Given the description of an element on the screen output the (x, y) to click on. 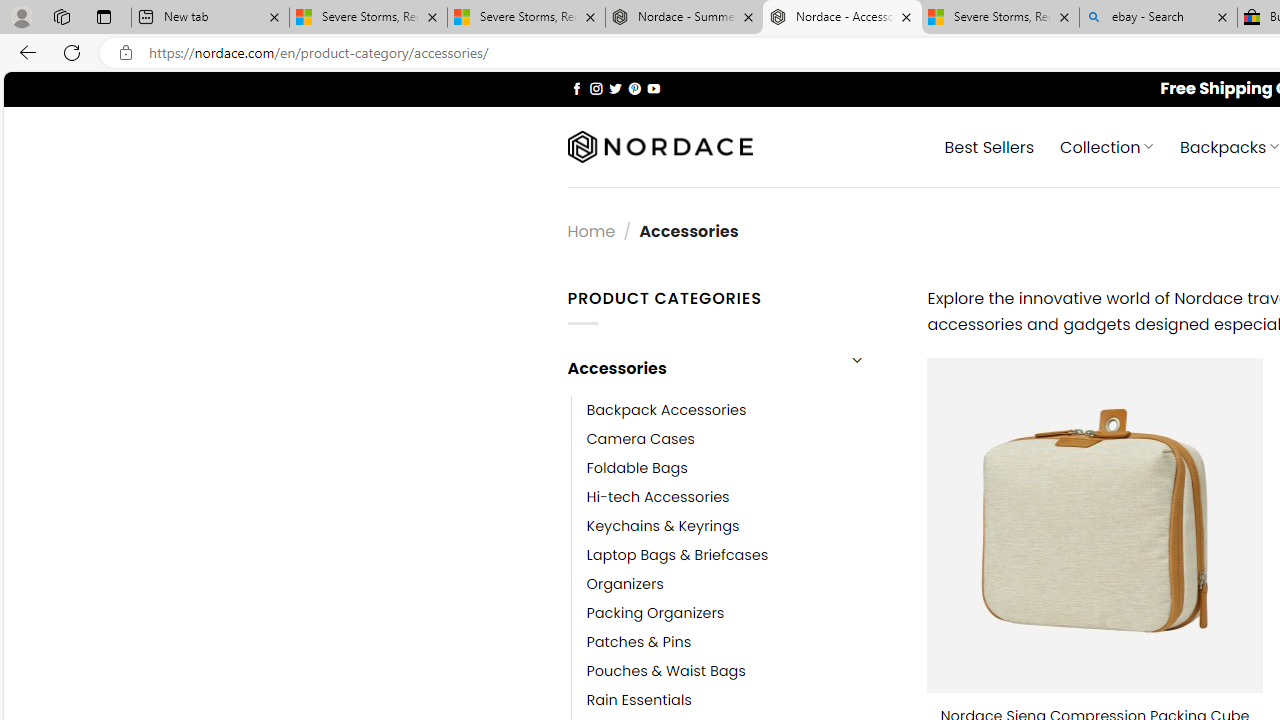
Nordace - Accessories (842, 17)
Camera Cases (742, 439)
Packing Organizers (742, 614)
Foldable Bags (742, 467)
Rain Essentials (639, 700)
Rain Essentials (742, 700)
